Given the description of an element on the screen output the (x, y) to click on. 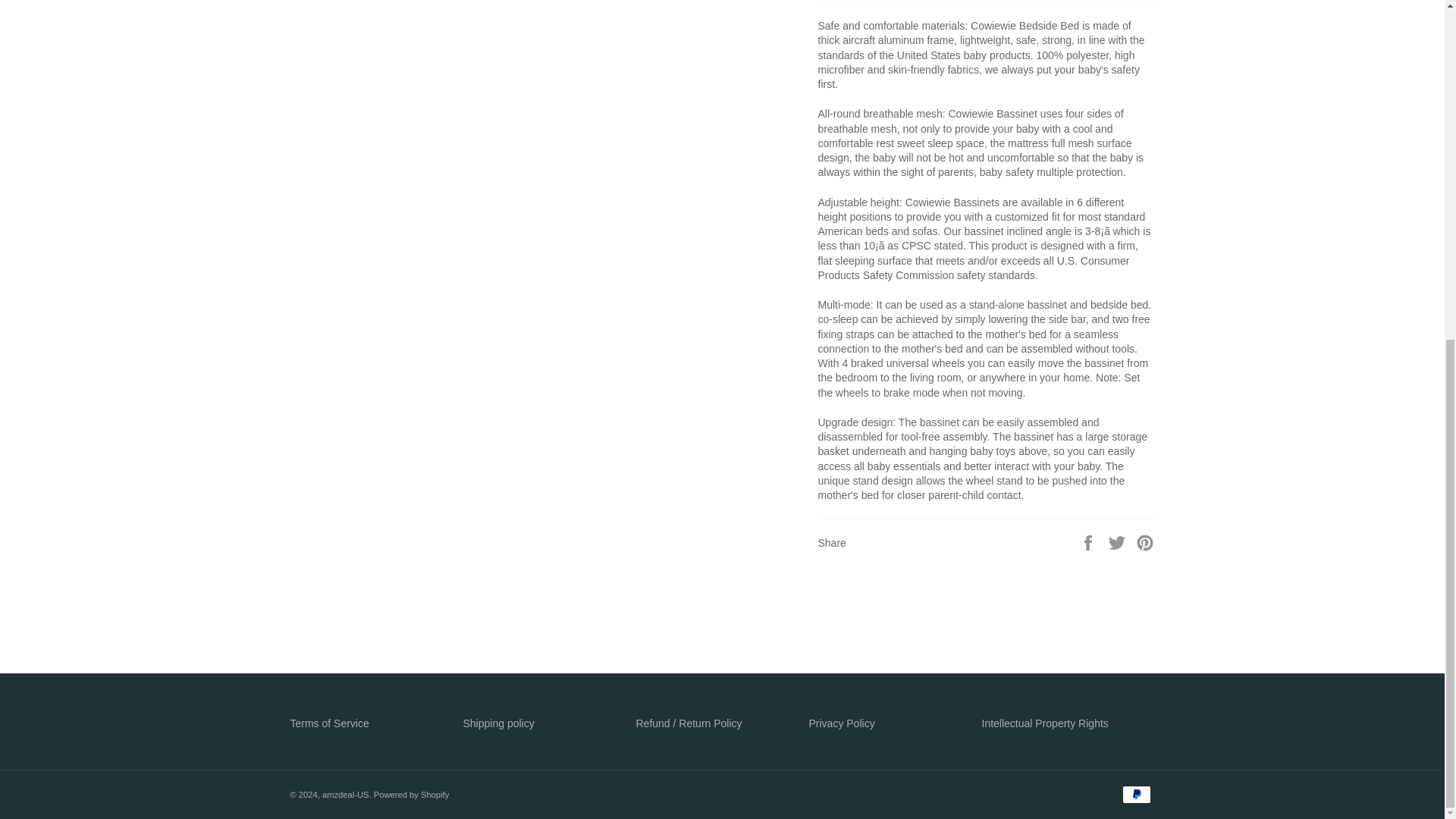
Terms of Service (328, 723)
Pin on Pinterest (1144, 541)
INTELLECTUAL PROPERTY RIGHTS (1044, 723)
Share on Facebook (1089, 541)
Tweet on Twitter (1118, 541)
amzdeal-US (345, 794)
Shipping policy (498, 723)
Tweet on Twitter (1118, 541)
Share on Facebook (1089, 541)
Terms of Service (328, 723)
